Given the description of an element on the screen output the (x, y) to click on. 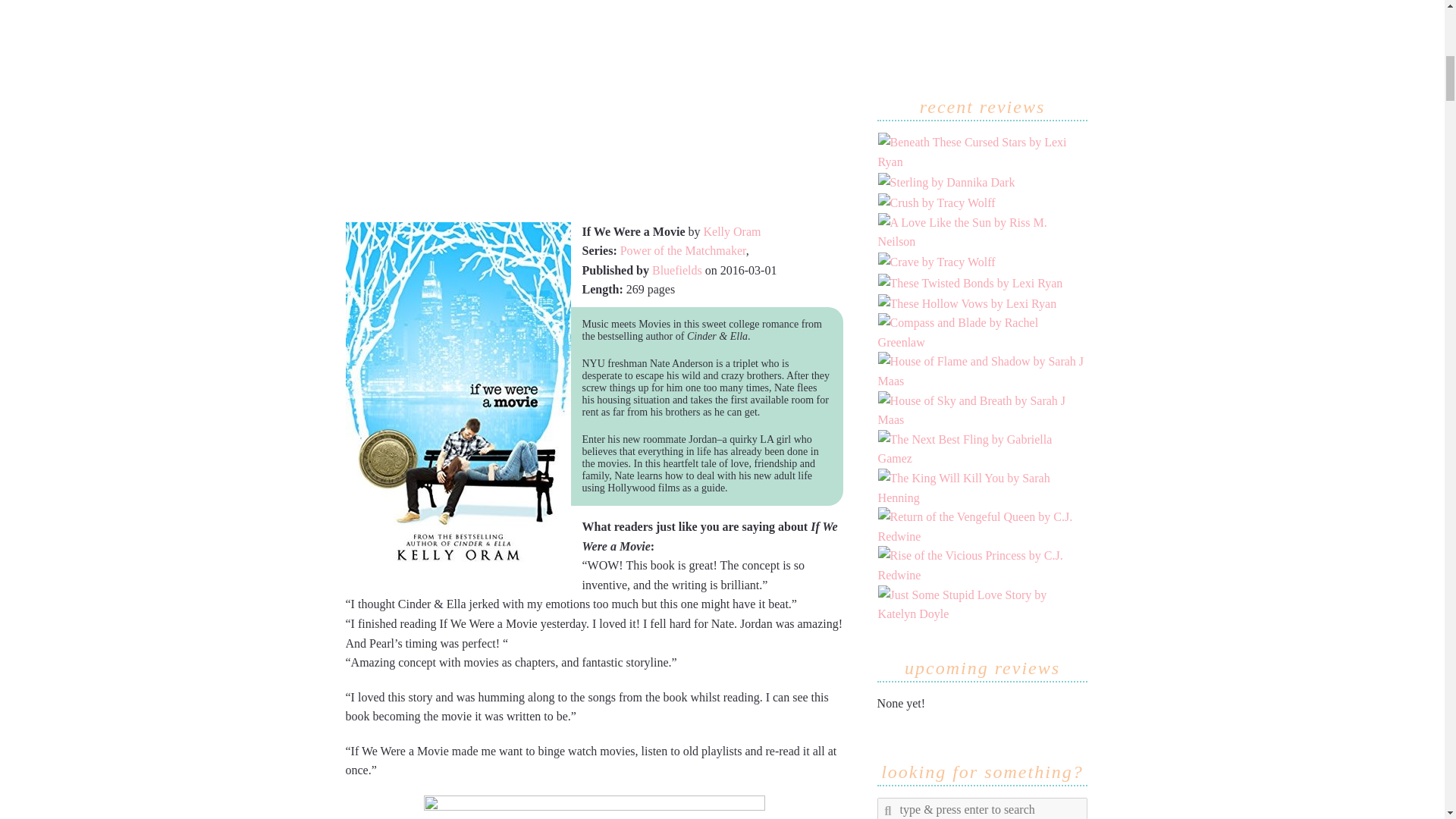
Kelly Oram (731, 231)
Bluefields (676, 269)
Power of the Matchmaker (682, 250)
